Given the description of an element on the screen output the (x, y) to click on. 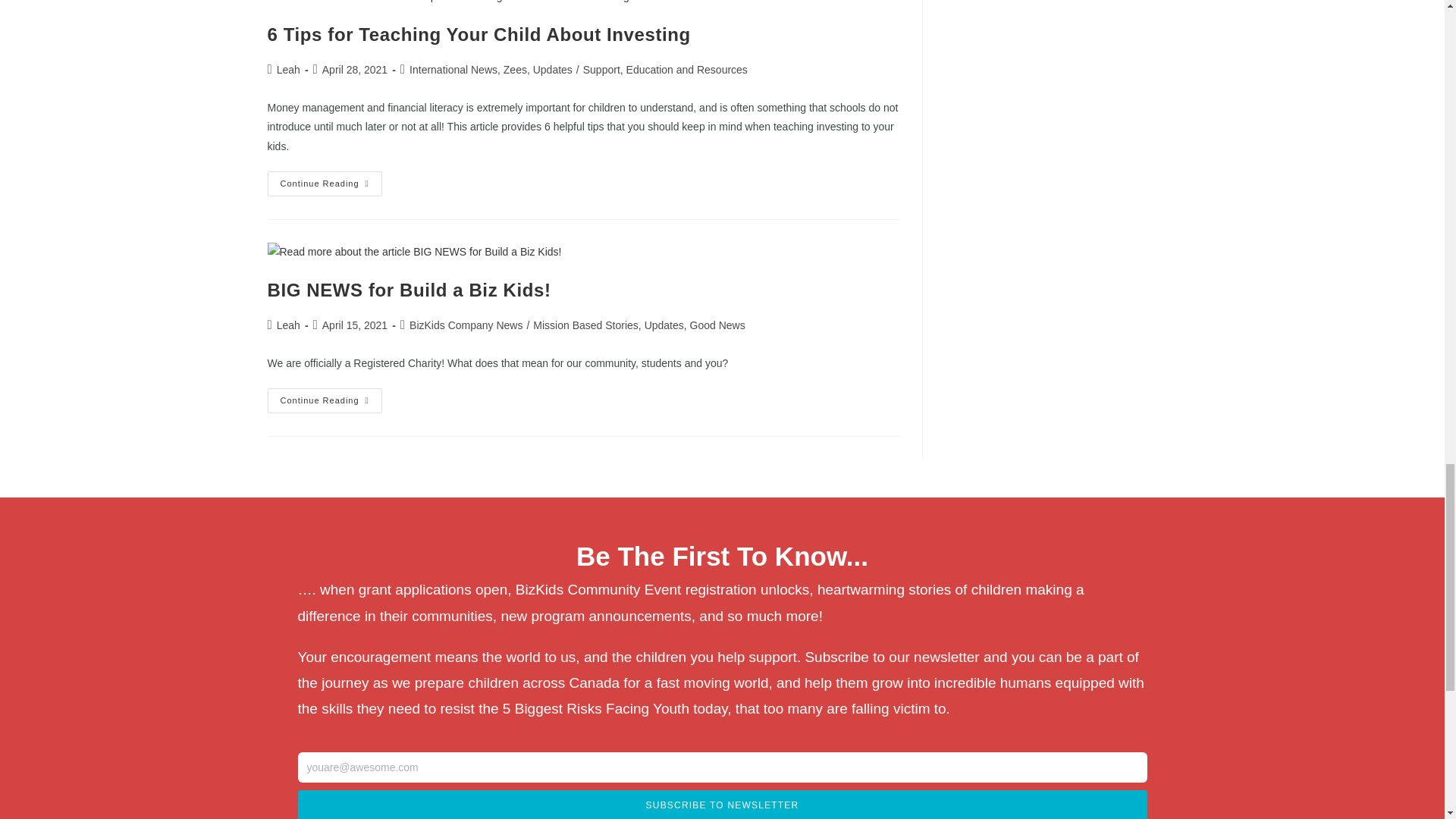
Posts by Leah (287, 69)
Posts by Leah (287, 325)
